Given the description of an element on the screen output the (x, y) to click on. 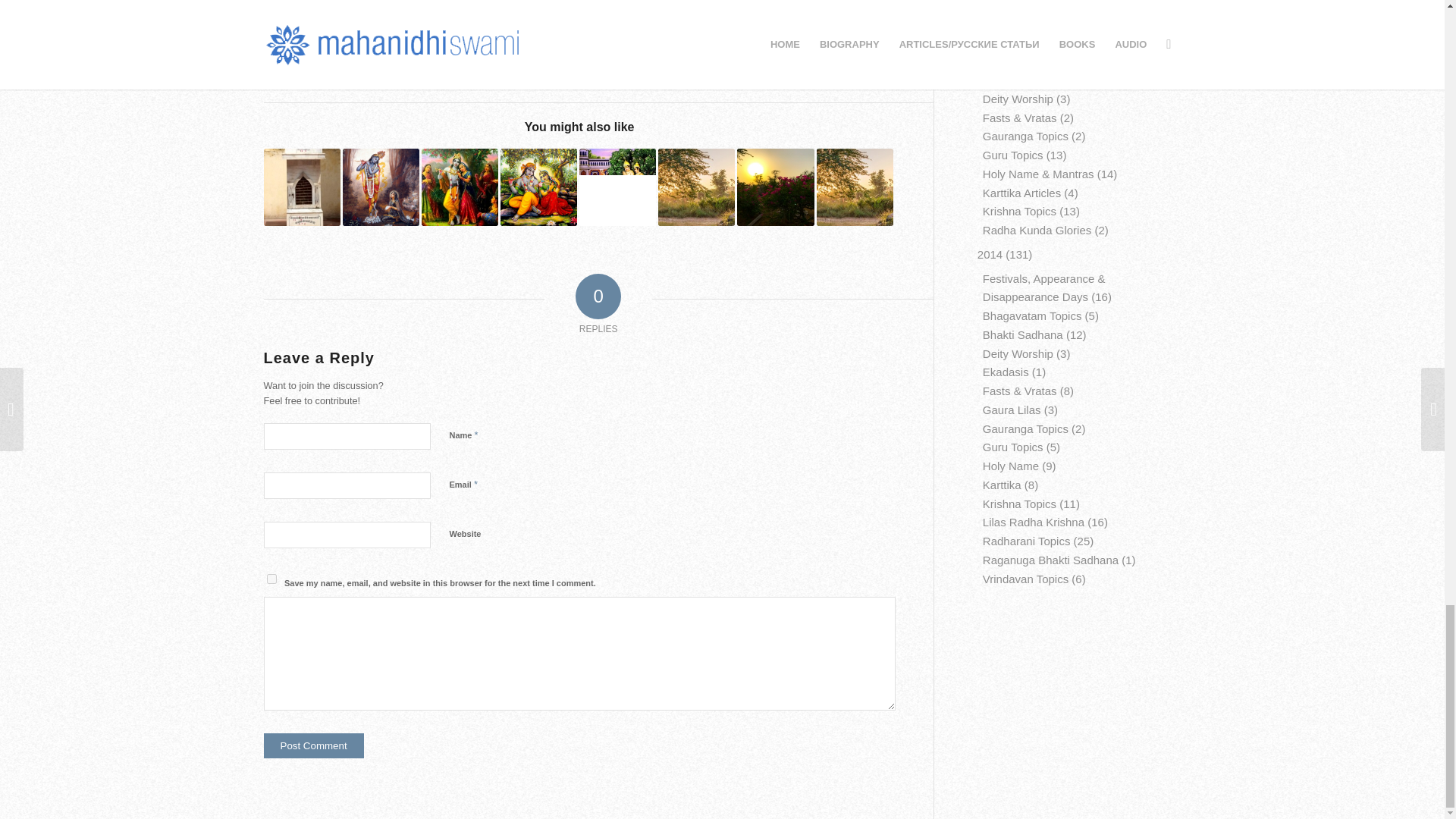
Post Comment (313, 745)
yes (271, 578)
Post Comment (313, 745)
